Given the description of an element on the screen output the (x, y) to click on. 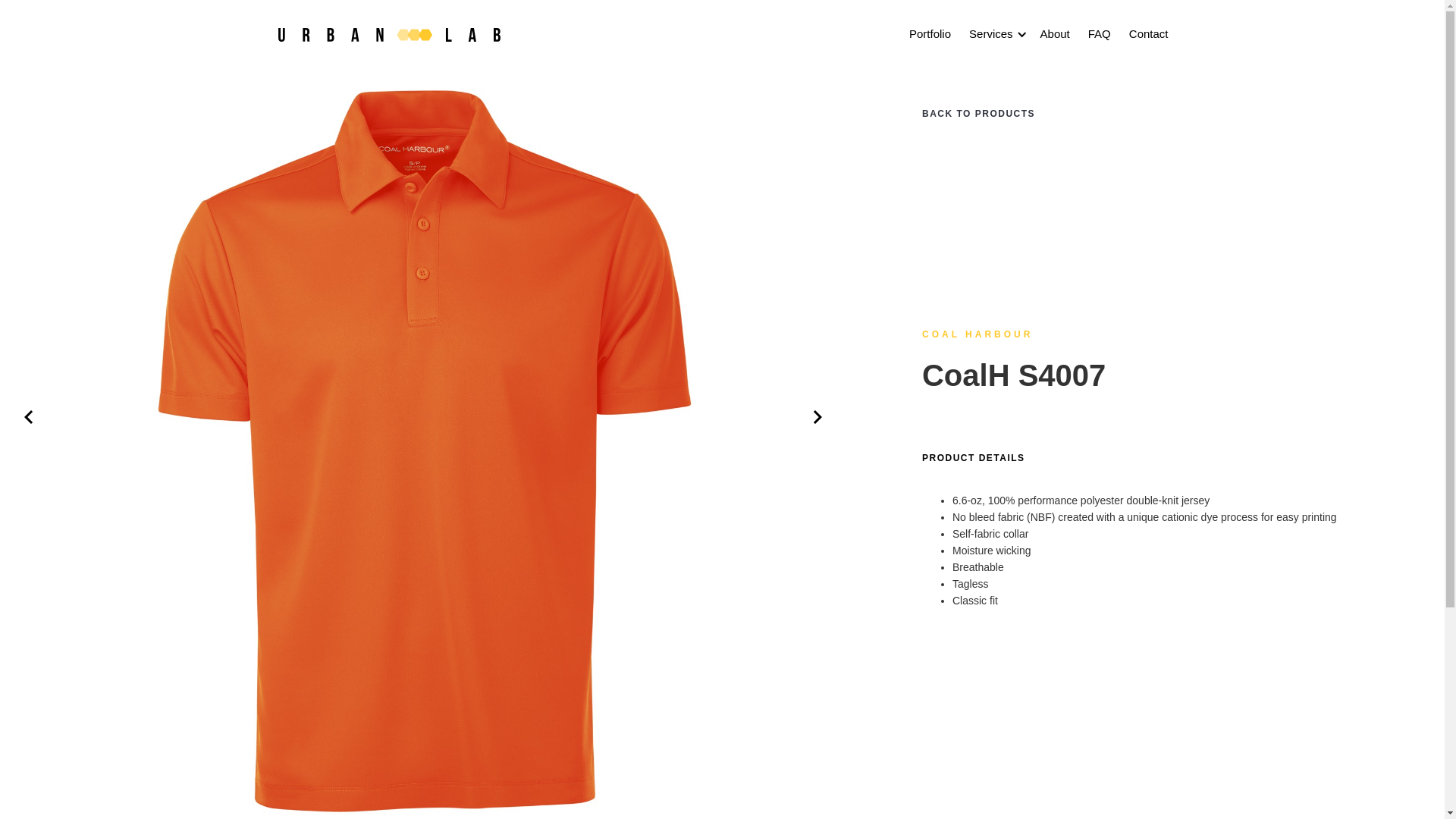
FAQ Element type: text (1099, 33)
PRODUCT DETAILS Element type: text (985, 458)
Services Element type: text (991, 33)
Contact Element type: text (1148, 33)
About Element type: text (1055, 33)
Portfolio Element type: text (930, 33)
BACK TO PRODUCTS Element type: text (1152, 113)
